Given the description of an element on the screen output the (x, y) to click on. 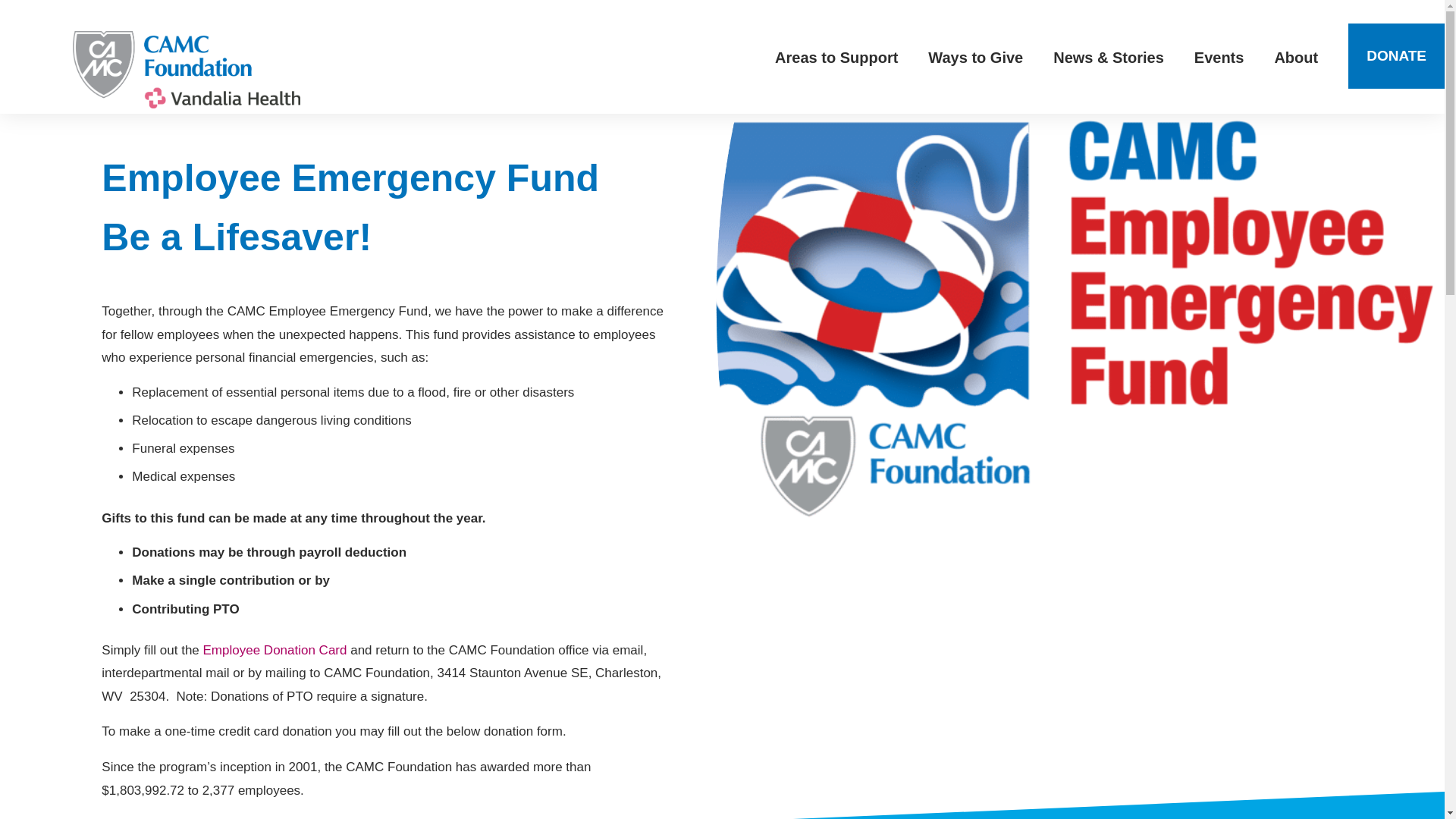
Events (1219, 56)
Areas to Support (836, 56)
Ways to Give (975, 56)
About (1296, 56)
